Given the description of an element on the screen output the (x, y) to click on. 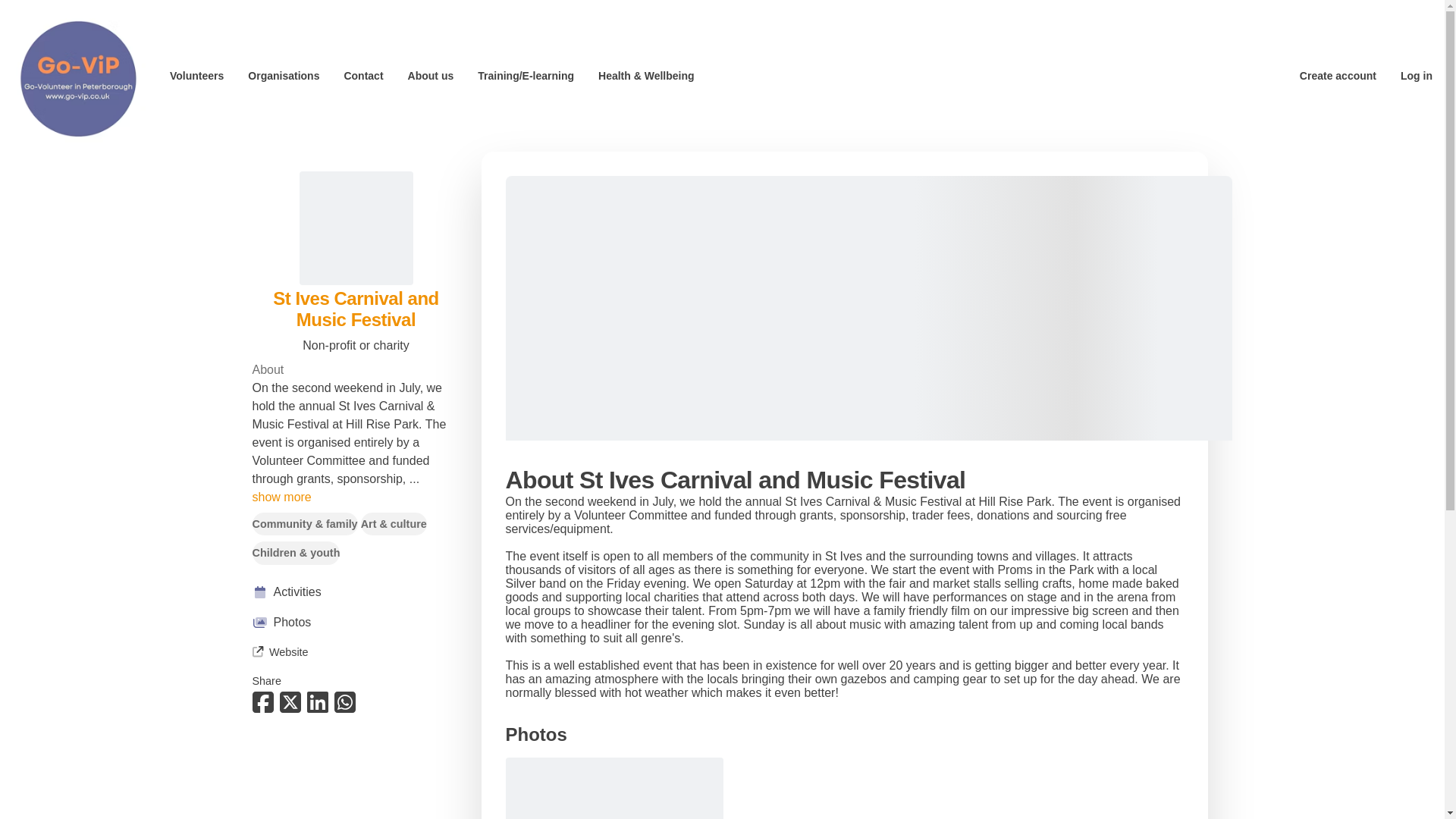
Volunteers (197, 75)
Log in (1416, 75)
Organisations (282, 75)
About us (430, 75)
Create account (1337, 75)
Activities (355, 592)
St Ives Carnival and Music Festival (355, 309)
Website (279, 652)
Contact (362, 75)
Photos (355, 622)
